Given the description of an element on the screen output the (x, y) to click on. 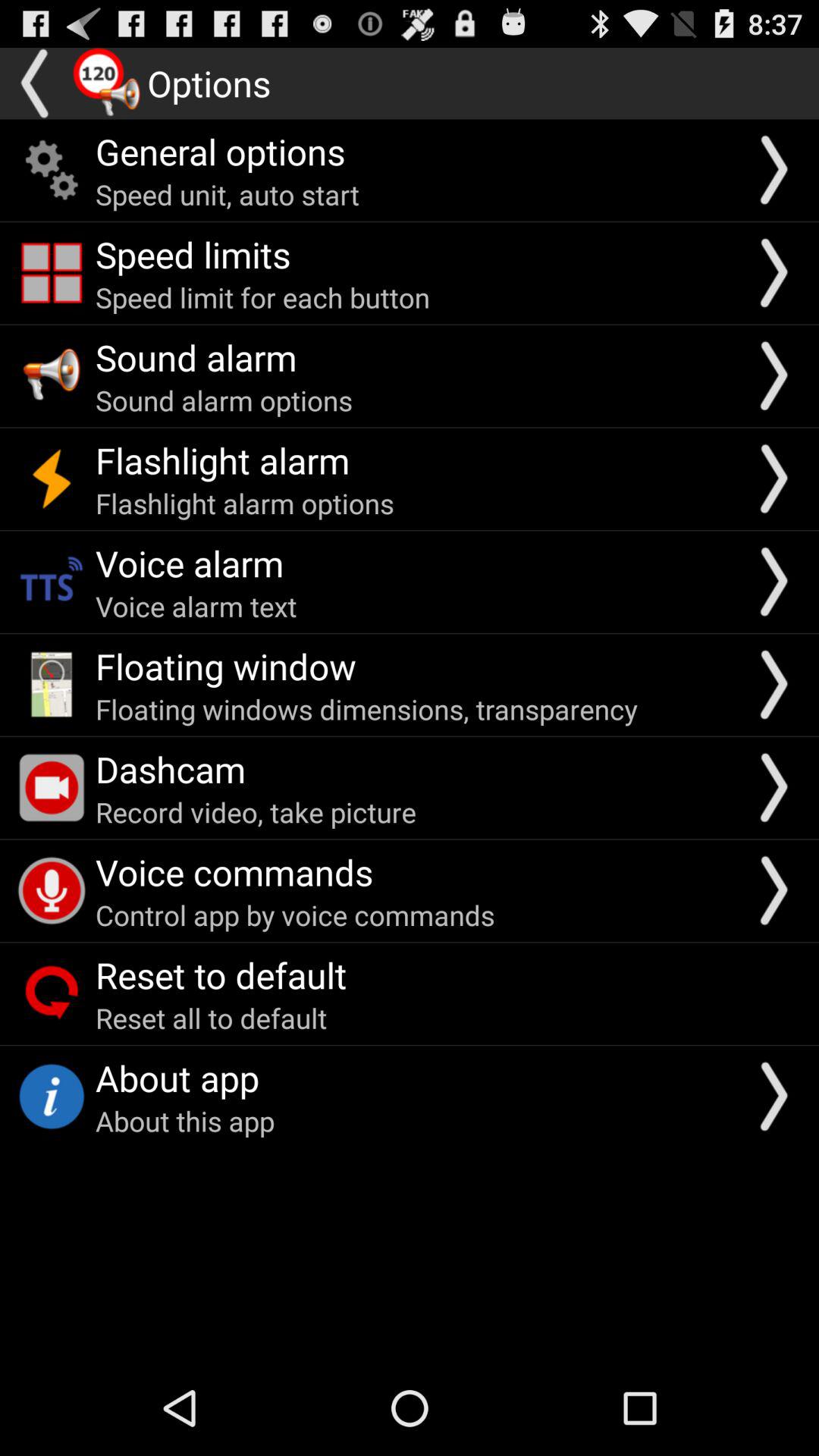
scroll to the control app by item (294, 914)
